Given the description of an element on the screen output the (x, y) to click on. 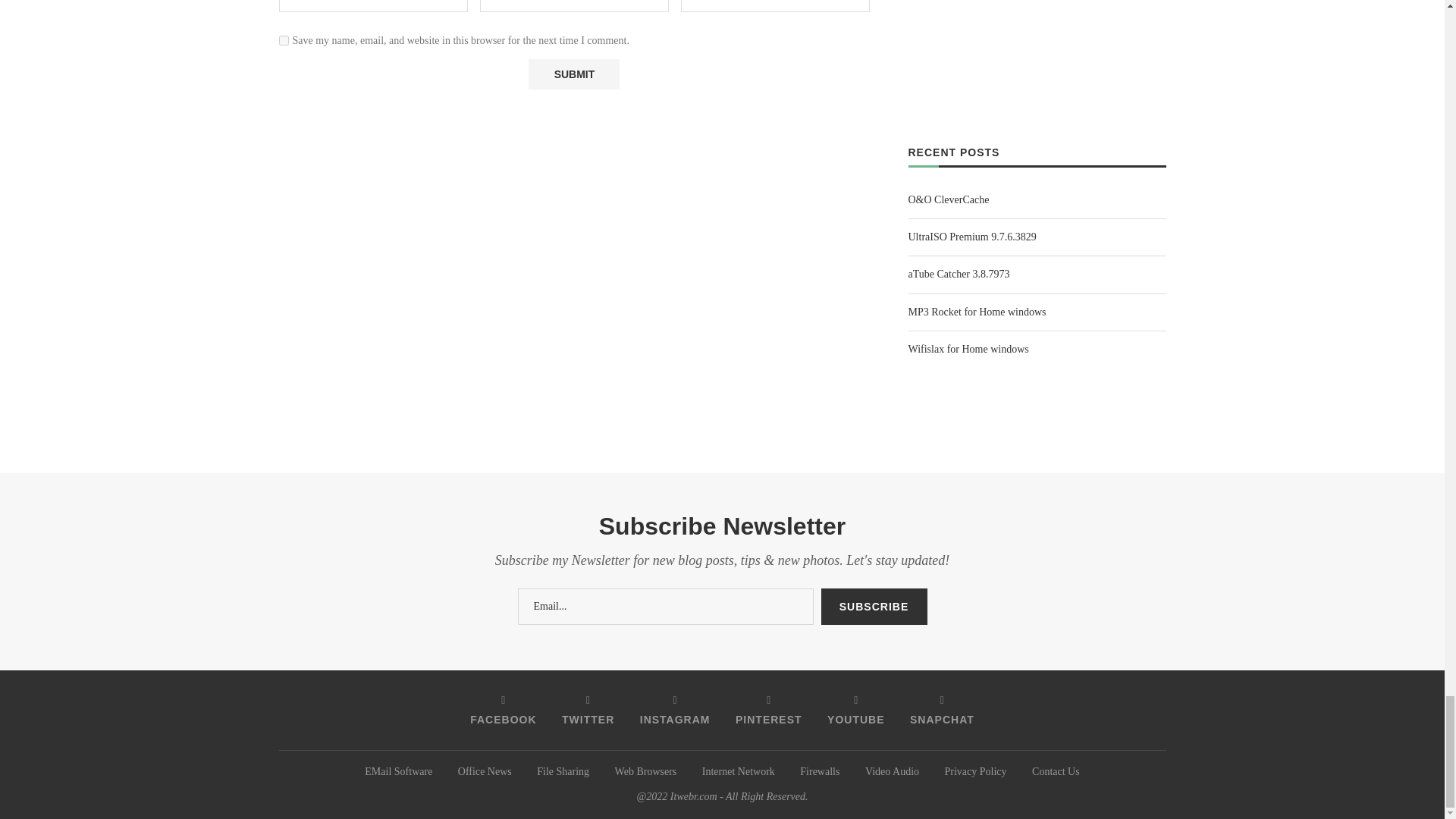
Submit (574, 73)
yes (283, 40)
Subscribe (873, 606)
